Given the description of an element on the screen output the (x, y) to click on. 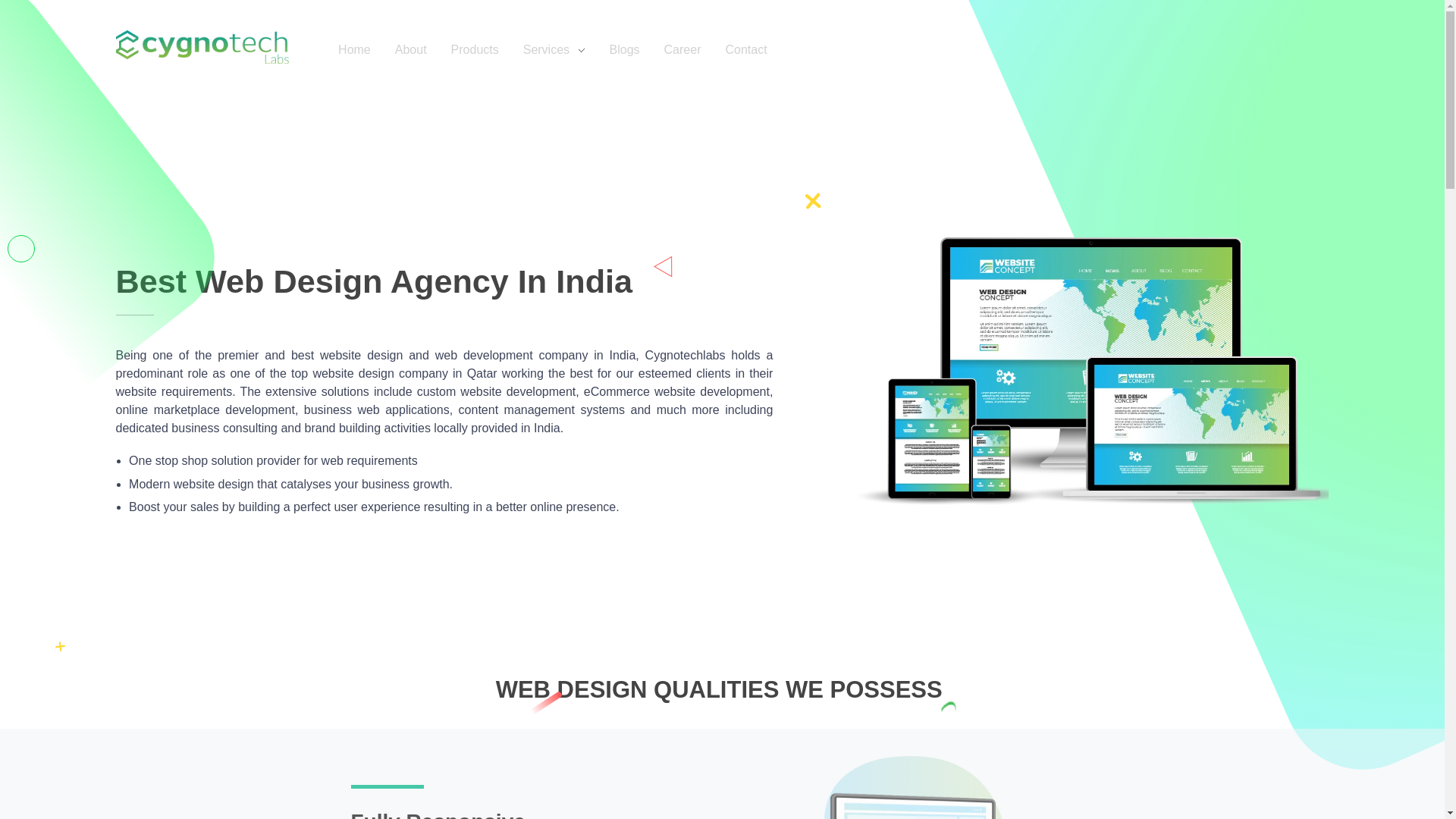
Career (694, 49)
Cygnotechlabs (192, 74)
Home (365, 49)
Services (566, 49)
Contact (757, 49)
Blogs (636, 49)
CYGNOTECHLABS (192, 74)
Cygnotechlabs (201, 46)
Products (486, 49)
About (422, 49)
